Given the description of an element on the screen output the (x, y) to click on. 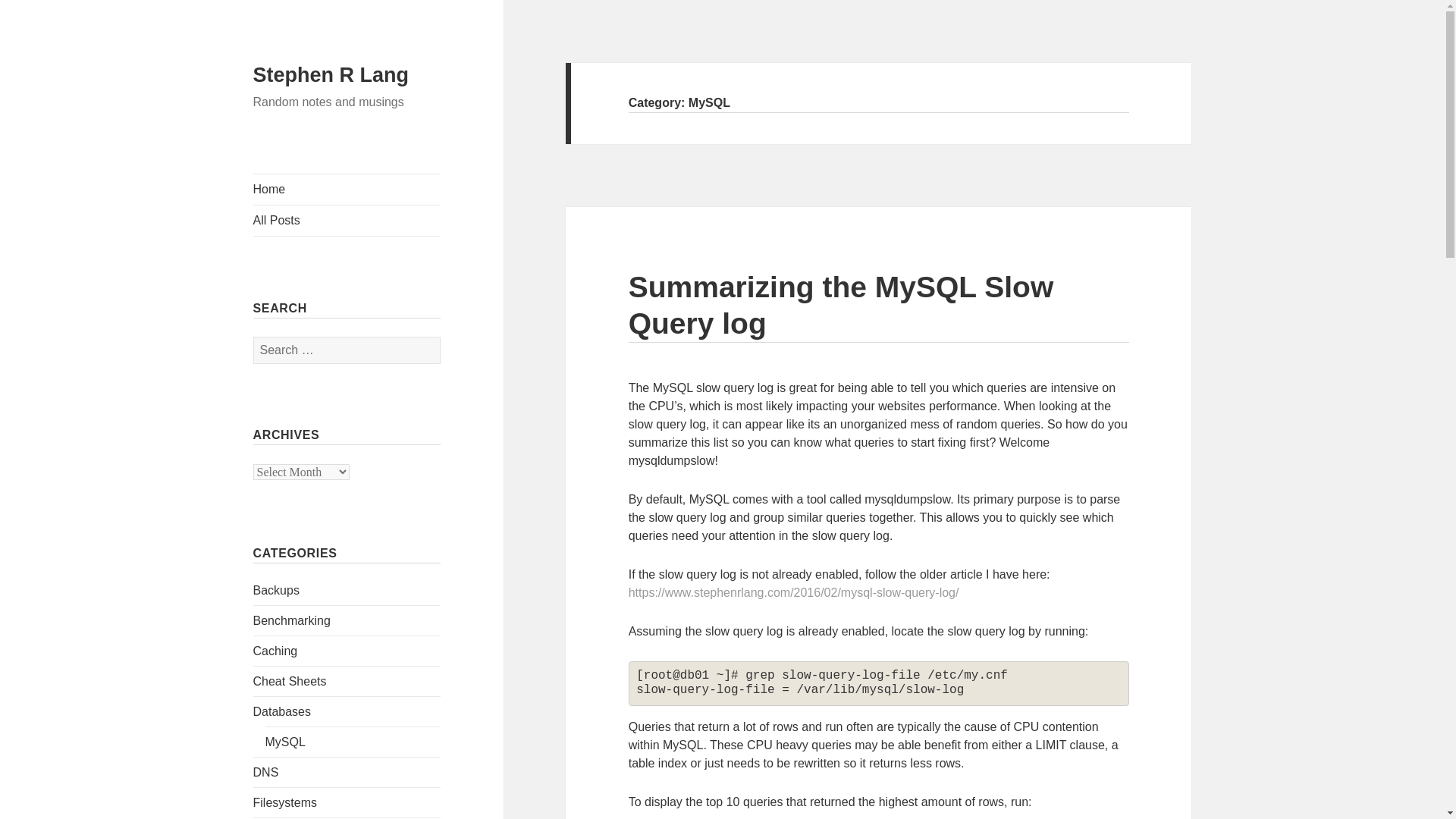
Benchmarking (291, 620)
DNS (266, 771)
Backups (276, 590)
All Posts (347, 220)
Databases (282, 711)
MySQL (284, 741)
Home (347, 189)
Stephen R Lang (331, 74)
Filesystems (285, 802)
Cheat Sheets (289, 680)
Caching (275, 650)
